Given the description of an element on the screen output the (x, y) to click on. 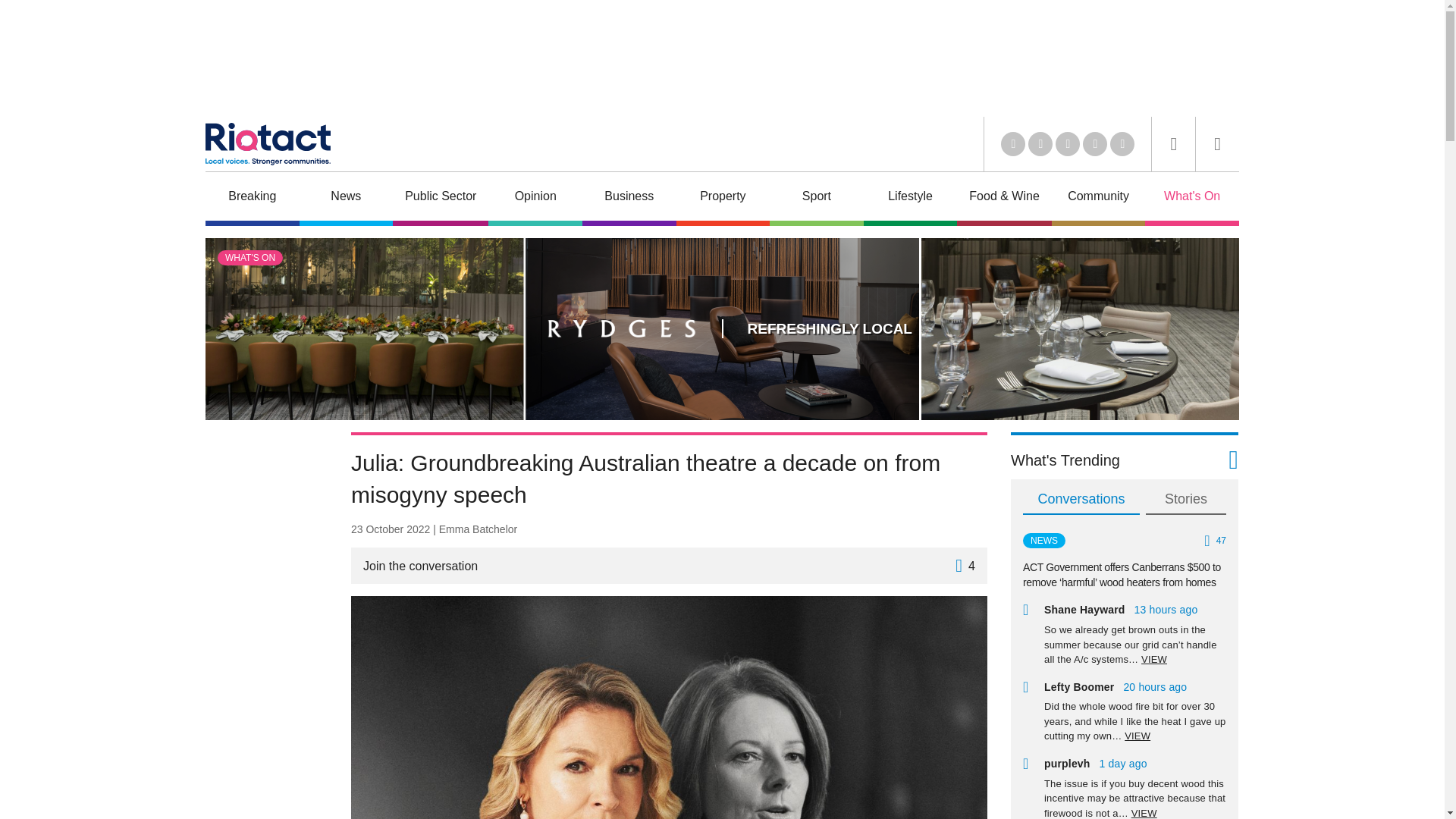
LinkedIn (1013, 143)
3rd party ad content (265, 625)
Instagram (1121, 143)
Breaking (252, 198)
Twitter (1039, 143)
News (346, 198)
Riotact Home (267, 143)
Search the website (1173, 144)
Youtube (1067, 143)
Facebook (1094, 143)
Login to Riotact (1217, 144)
